Given the description of an element on the screen output the (x, y) to click on. 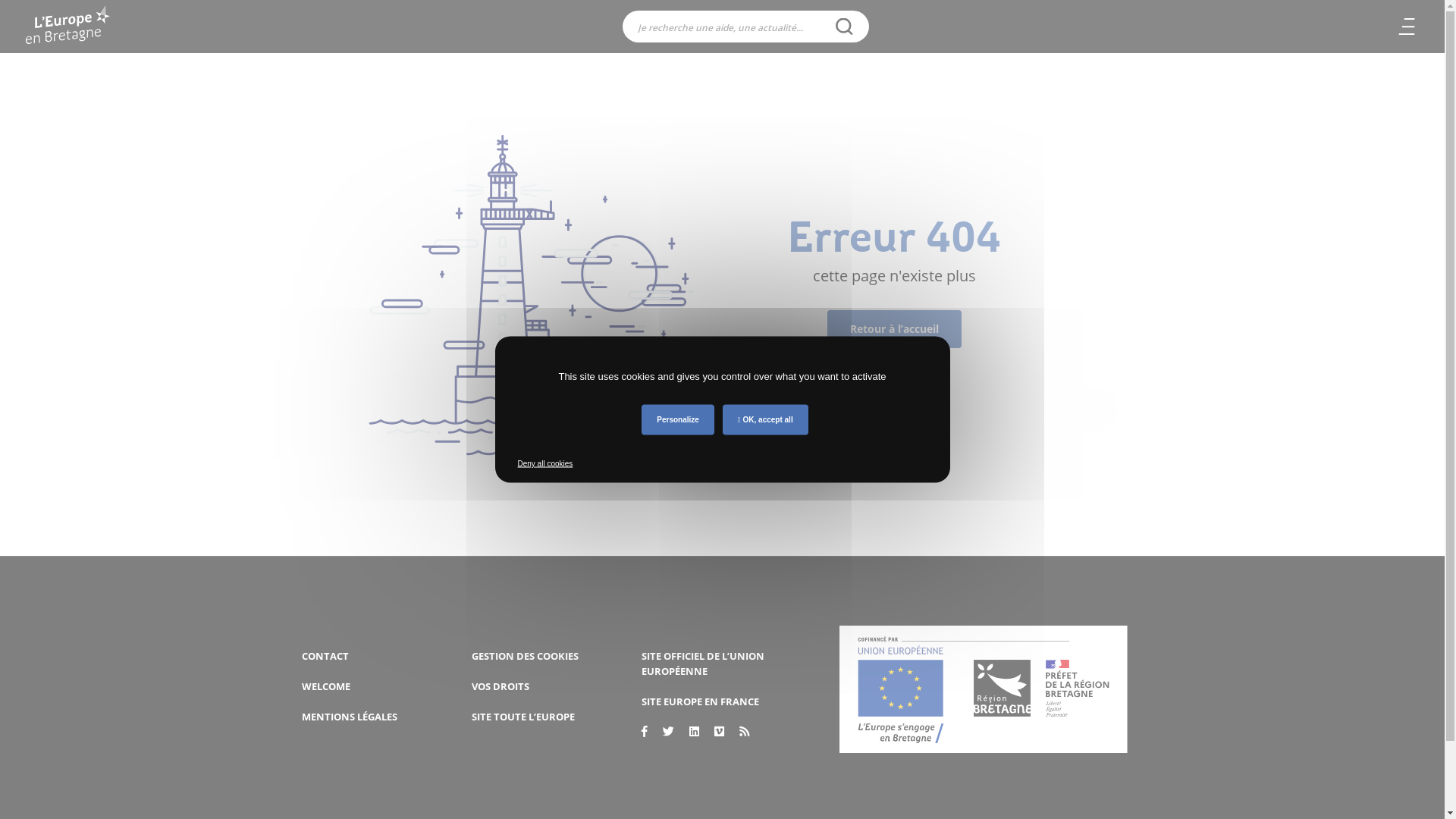
VOS DROITS Element type: text (500, 686)
Deny all cookies Element type: text (544, 463)
SITE EUROPE EN FRANCE Element type: text (700, 701)
Menu Element type: text (1406, 26)
OK, accept all Element type: text (765, 419)
CONTACT Element type: text (324, 655)
GESTION DES COOKIES Element type: text (524, 655)
Personalize Element type: text (677, 419)
WELCOME Element type: text (325, 686)
